Given the description of an element on the screen output the (x, y) to click on. 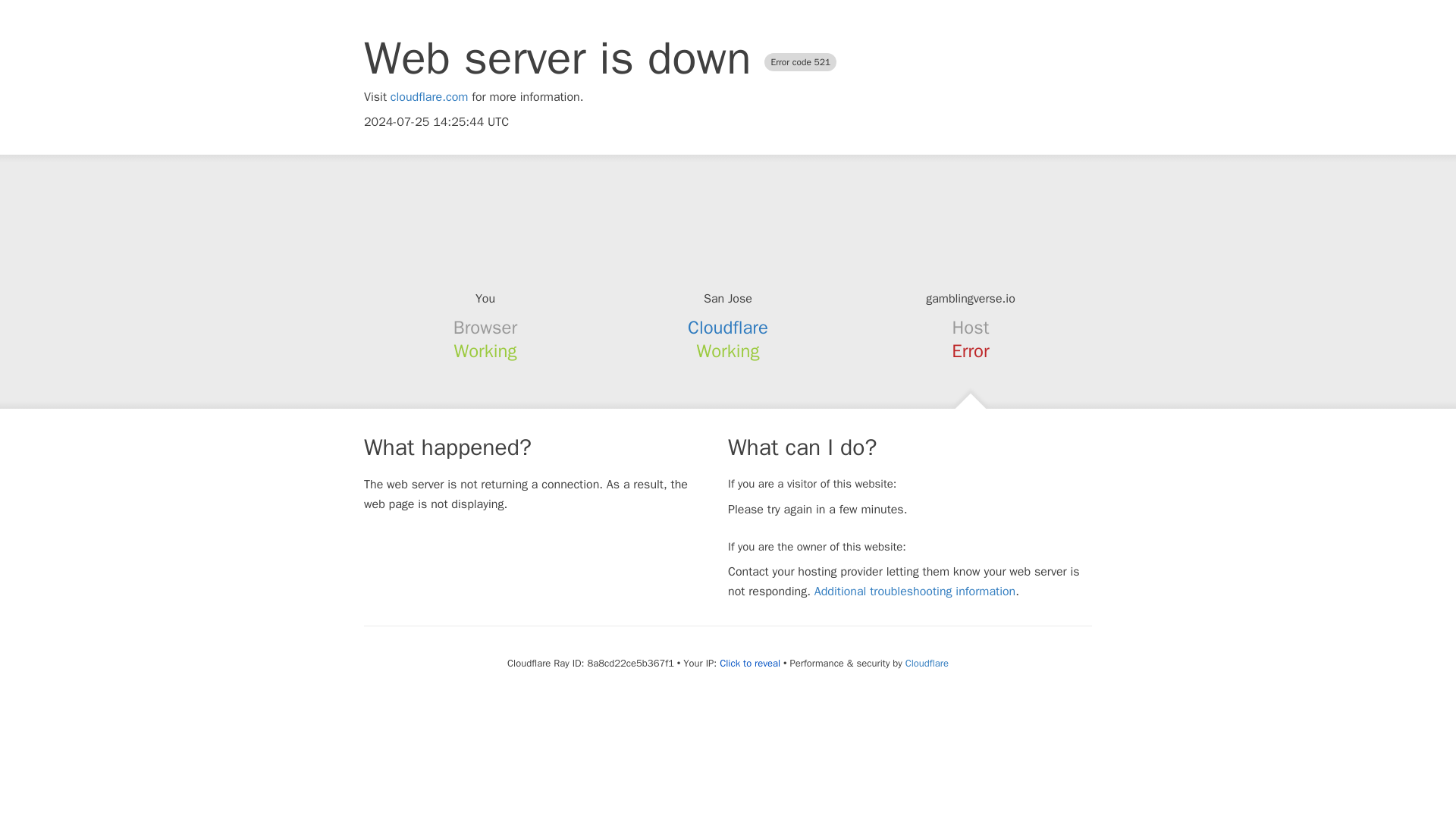
Cloudflare (927, 662)
Cloudflare (727, 327)
Click to reveal (749, 663)
Additional troubleshooting information (913, 590)
cloudflare.com (429, 96)
